Given the description of an element on the screen output the (x, y) to click on. 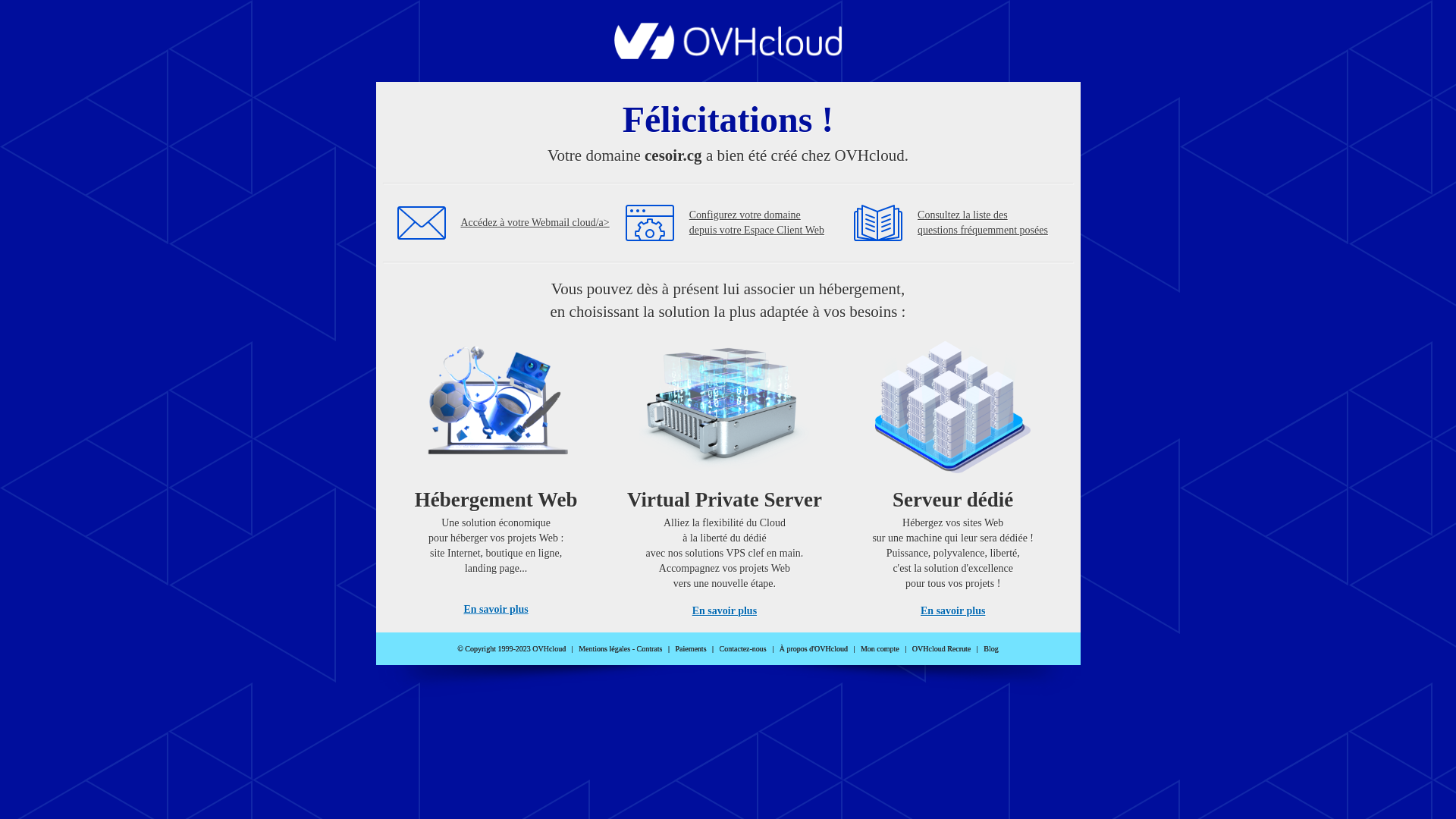
En savoir plus Element type: text (952, 610)
OVHcloud Recrute Element type: text (941, 648)
Virtual Private Server Element type: hover (724, 408)
OVHcloud Element type: hover (727, 54)
Blog Element type: text (990, 648)
Contactez-nous Element type: text (742, 648)
Mon compte Element type: text (879, 648)
Configurez votre domaine
depuis votre Espace Client Web Element type: text (756, 222)
En savoir plus Element type: text (495, 609)
En savoir plus Element type: text (724, 610)
Paiements Element type: text (690, 648)
